Given the description of an element on the screen output the (x, y) to click on. 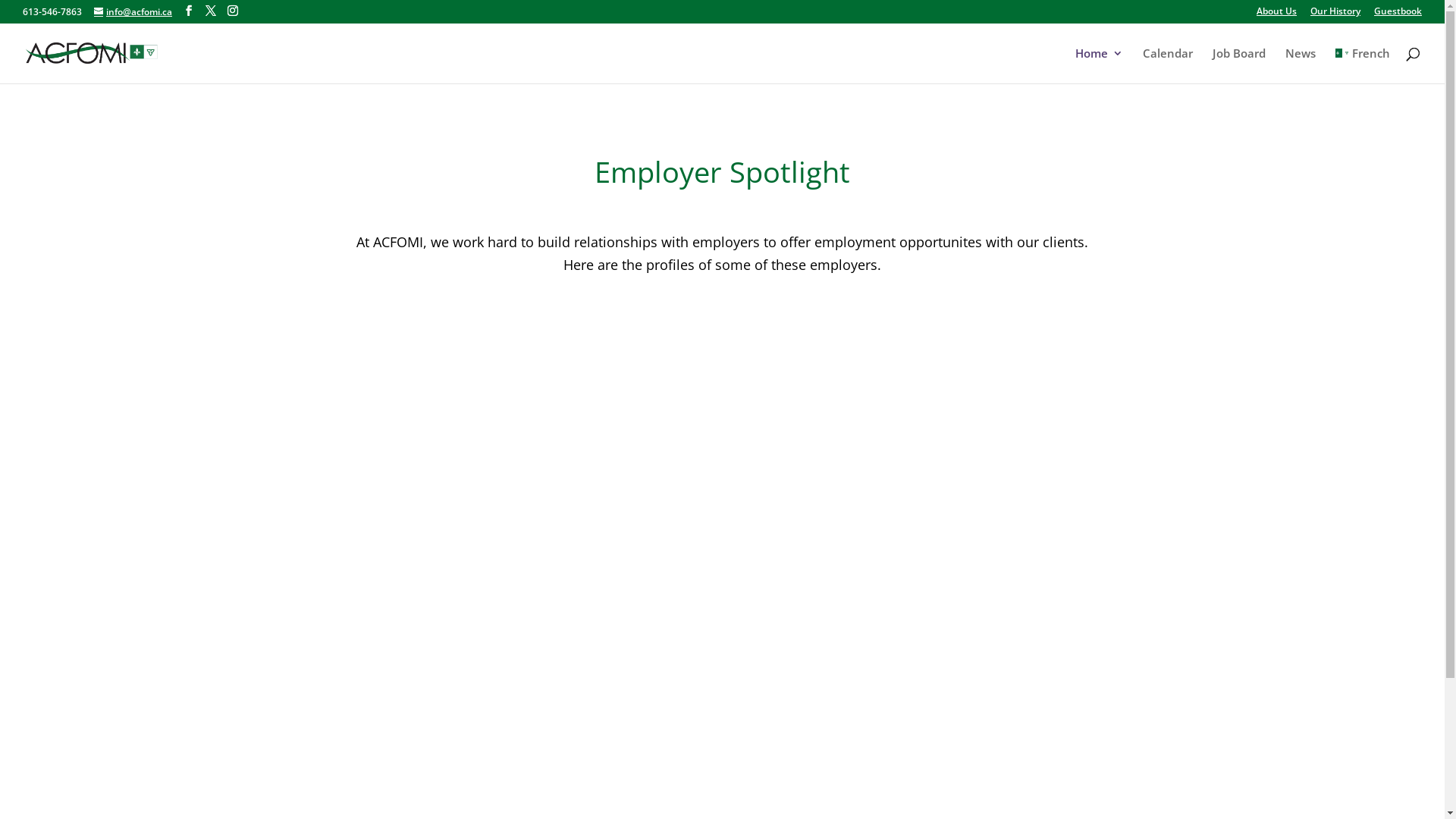
Calendar Element type: text (1167, 65)
About Us Element type: text (1276, 14)
info@acfomi.ca Element type: text (133, 11)
Job Board Element type: text (1237, 65)
Our History Element type: text (1335, 14)
Guestbook Element type: text (1397, 14)
News Element type: text (1299, 65)
Home Element type: text (1099, 65)
French Element type: text (1362, 65)
